Given the description of an element on the screen output the (x, y) to click on. 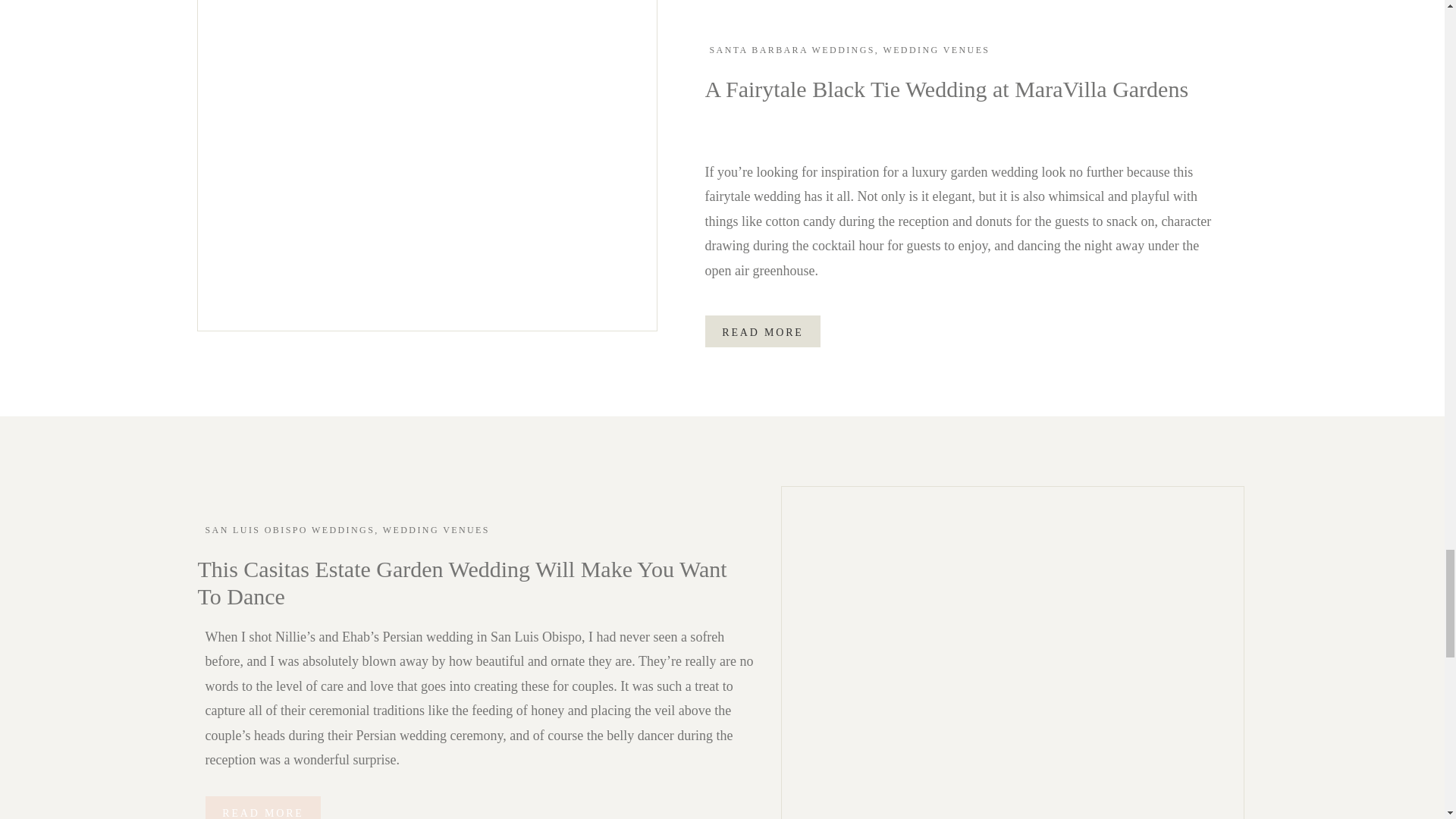
A Fairytale Black Tie Wedding at MaraVilla Gardens (427, 159)
A Fairytale Black Tie Wedding at MaraVilla Gardens (763, 331)
